Given the description of an element on the screen output the (x, y) to click on. 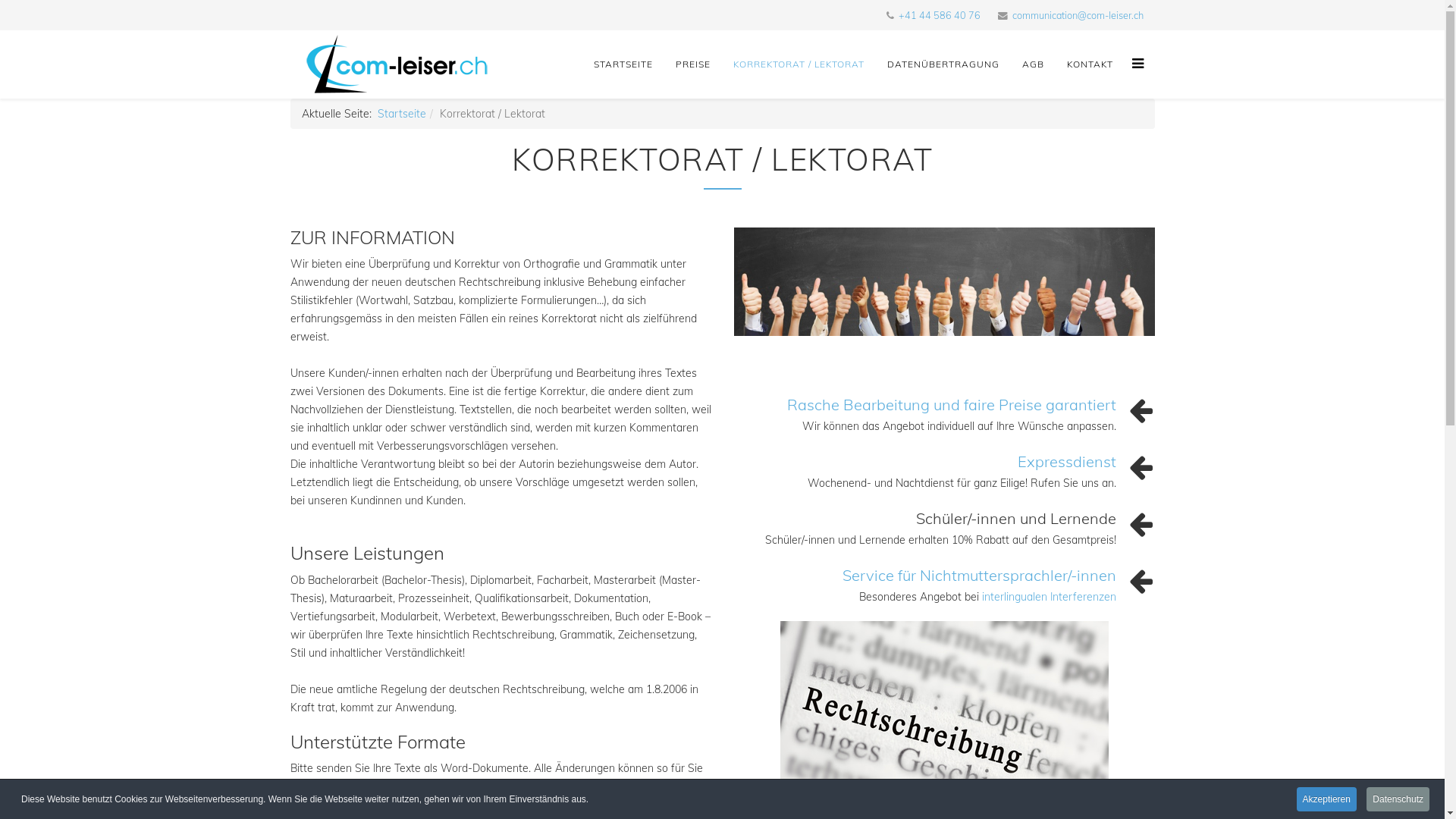
interlingualen Interferenzen Element type: text (1048, 596)
PREISE Element type: text (692, 64)
Startseite Element type: text (401, 113)
STARTSEITE Element type: text (623, 64)
Datenschutz Element type: text (1397, 799)
communication@com-leiser.ch Element type: text (1076, 15)
Akzeptieren Element type: text (1326, 799)
+41 44 586 40 76 Element type: text (938, 15)
KORREKTORAT / LEKTORAT Element type: text (798, 64)
Rasche Bearbeitung und faire Preise garantiert Element type: text (951, 404)
KONTAKT Element type: text (1089, 64)
Expressdienst Element type: text (1066, 460)
AGB Element type: text (1032, 64)
